Given the description of an element on the screen output the (x, y) to click on. 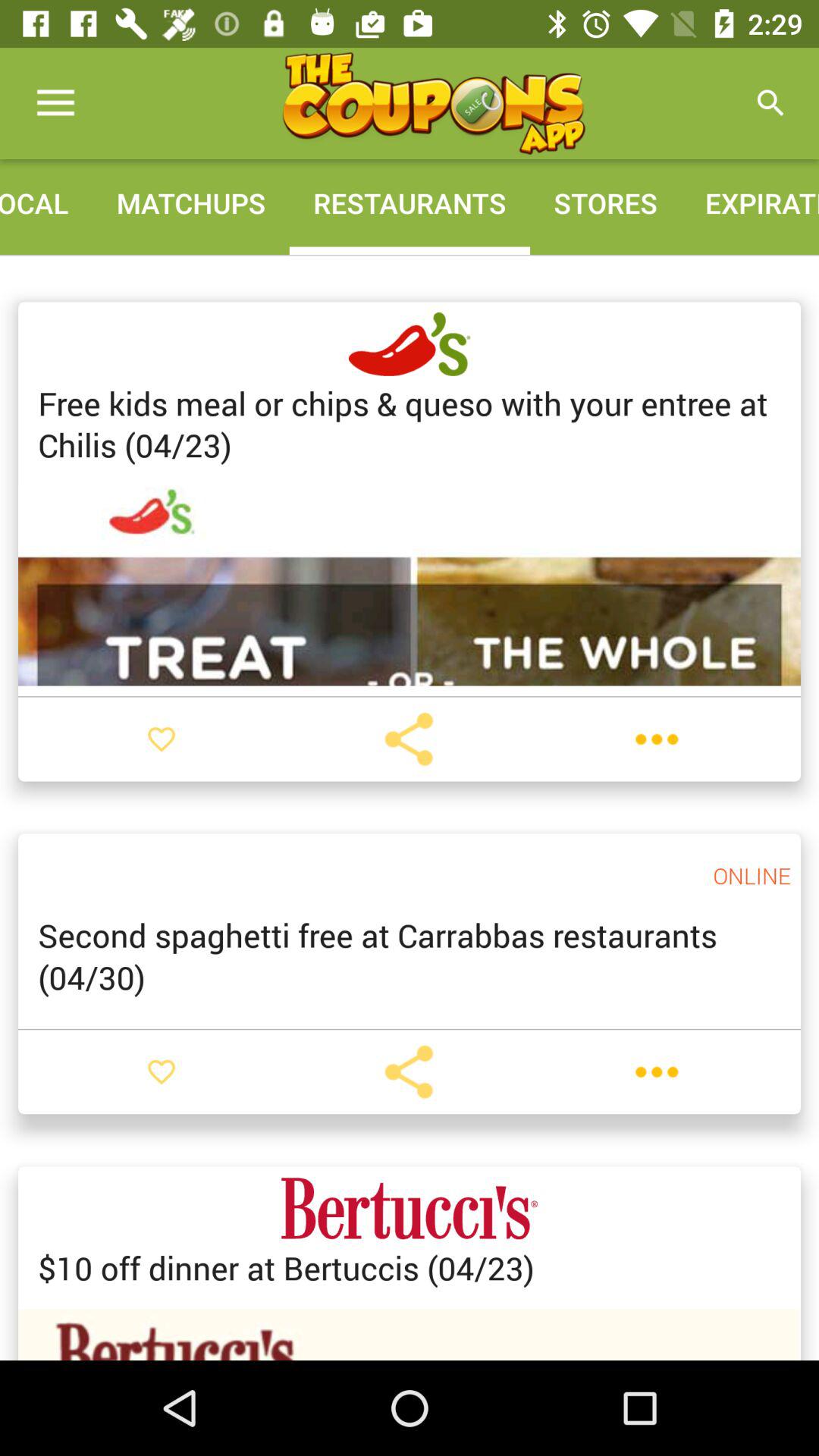
turn off icon next to the expiration icon (605, 202)
